Given the description of an element on the screen output the (x, y) to click on. 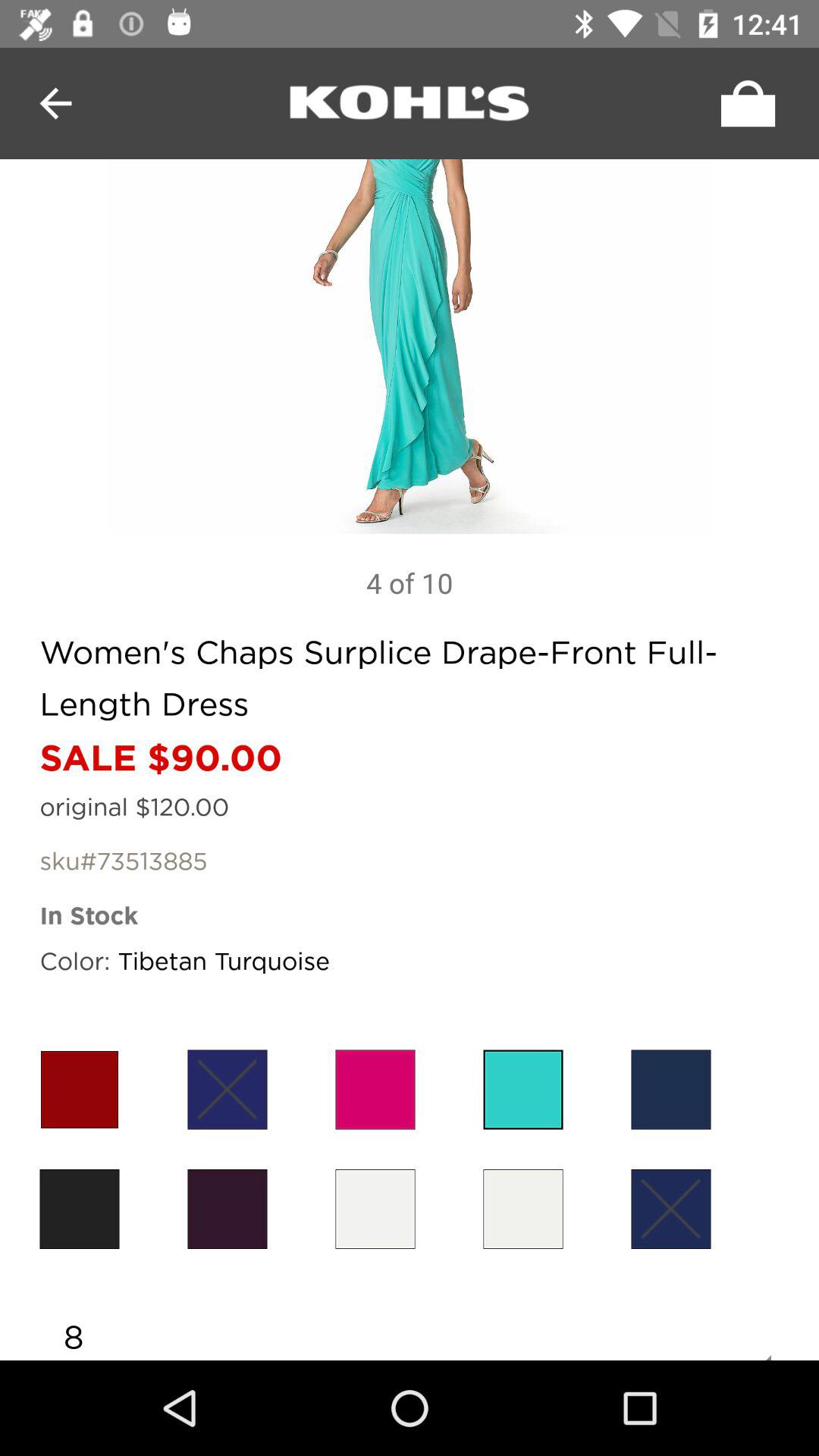
toggle color options (79, 1208)
